Given the description of an element on the screen output the (x, y) to click on. 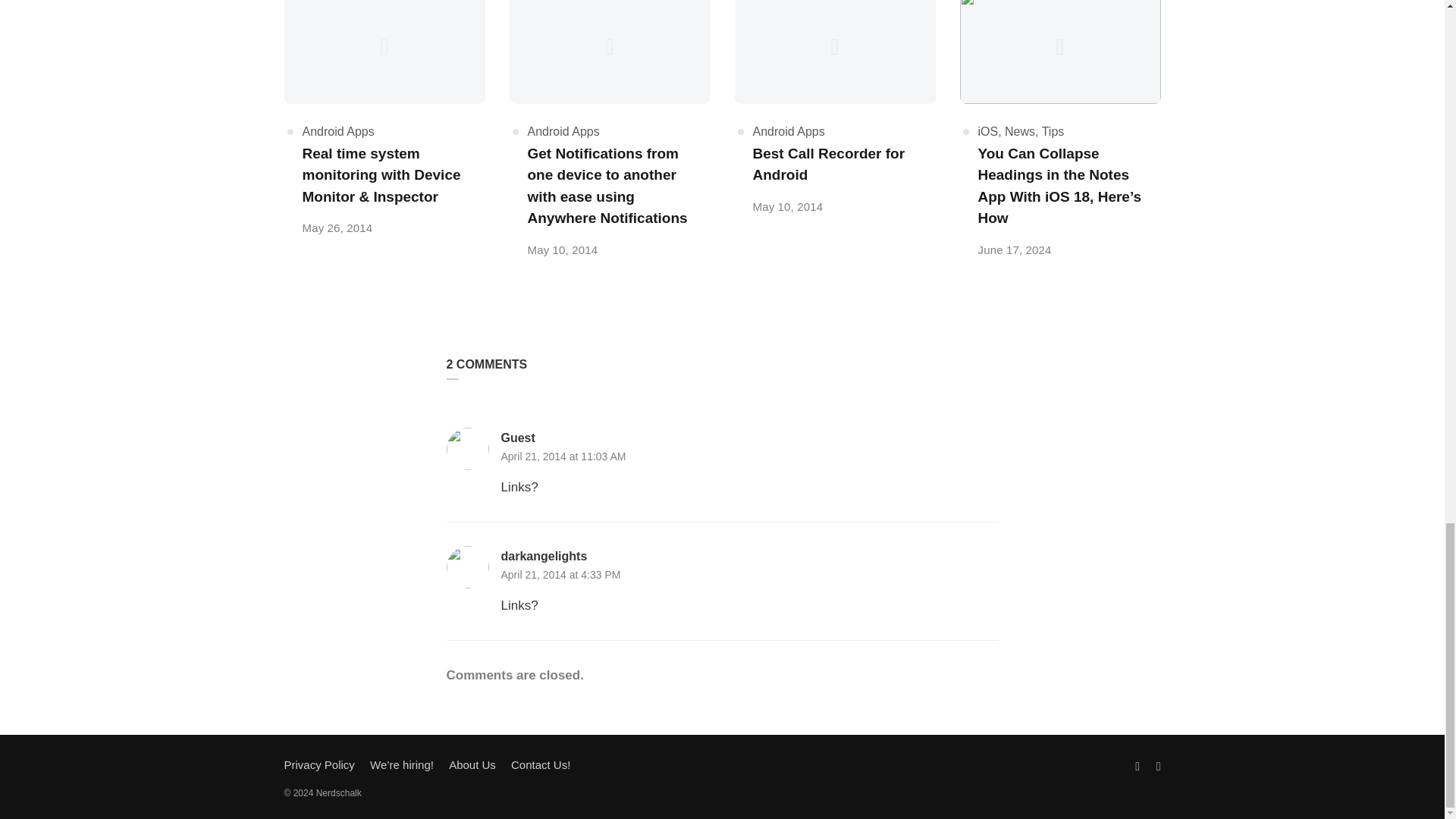
News (1019, 131)
Android Apps (788, 131)
Tips (1053, 131)
iOS (988, 131)
April 21, 2014 at 11:03 AM (563, 456)
Android Apps (337, 131)
Android Apps (563, 131)
